Given the description of an element on the screen output the (x, y) to click on. 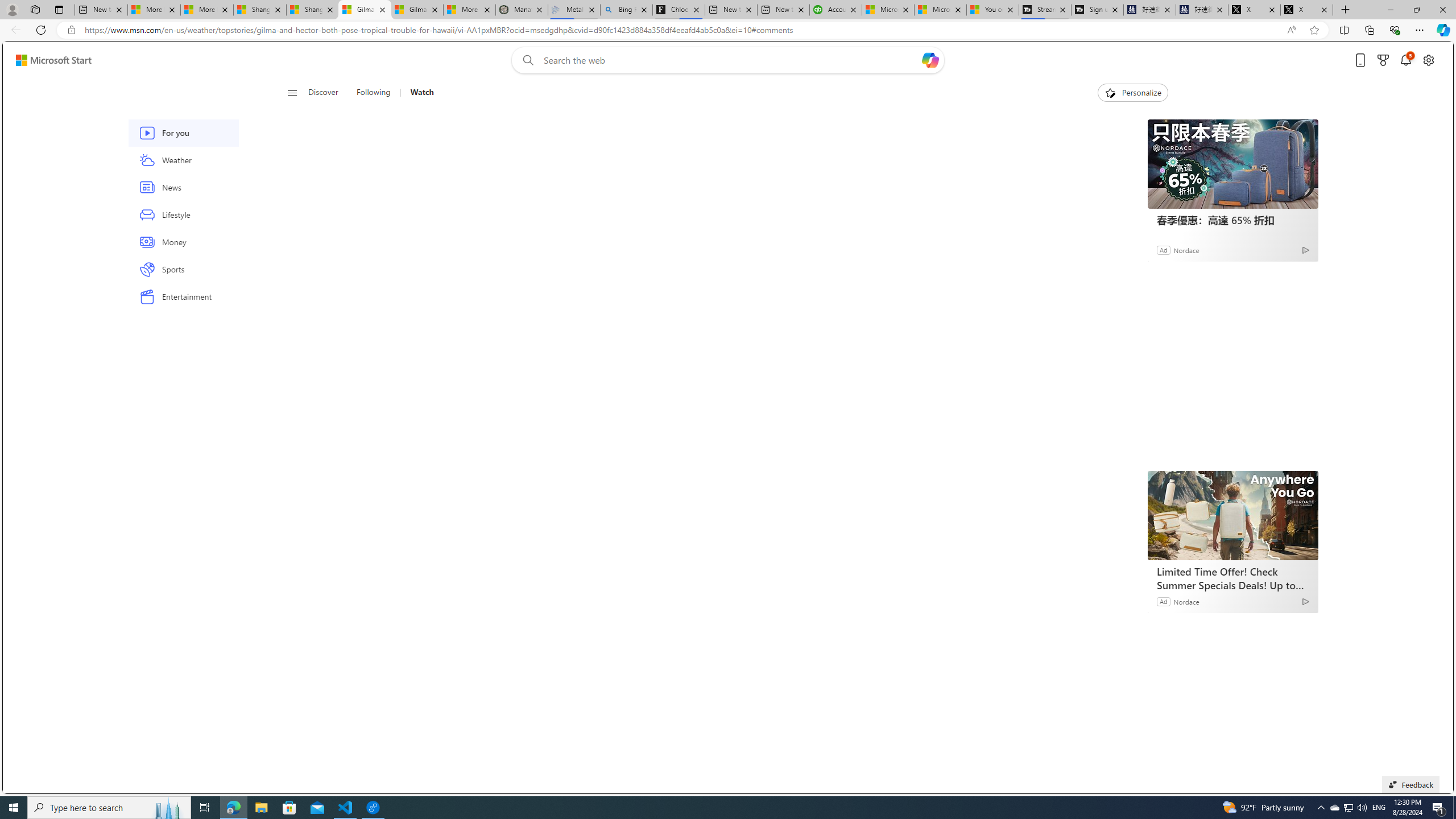
Limited Time Offer! Check Summer Specials Deals! Up to -55%! (1232, 578)
Bing Real Estate - Home sales and rental listings (626, 9)
Accounting Software for Accountants, CPAs and Bookkeepers (835, 9)
